Given the description of an element on the screen output the (x, y) to click on. 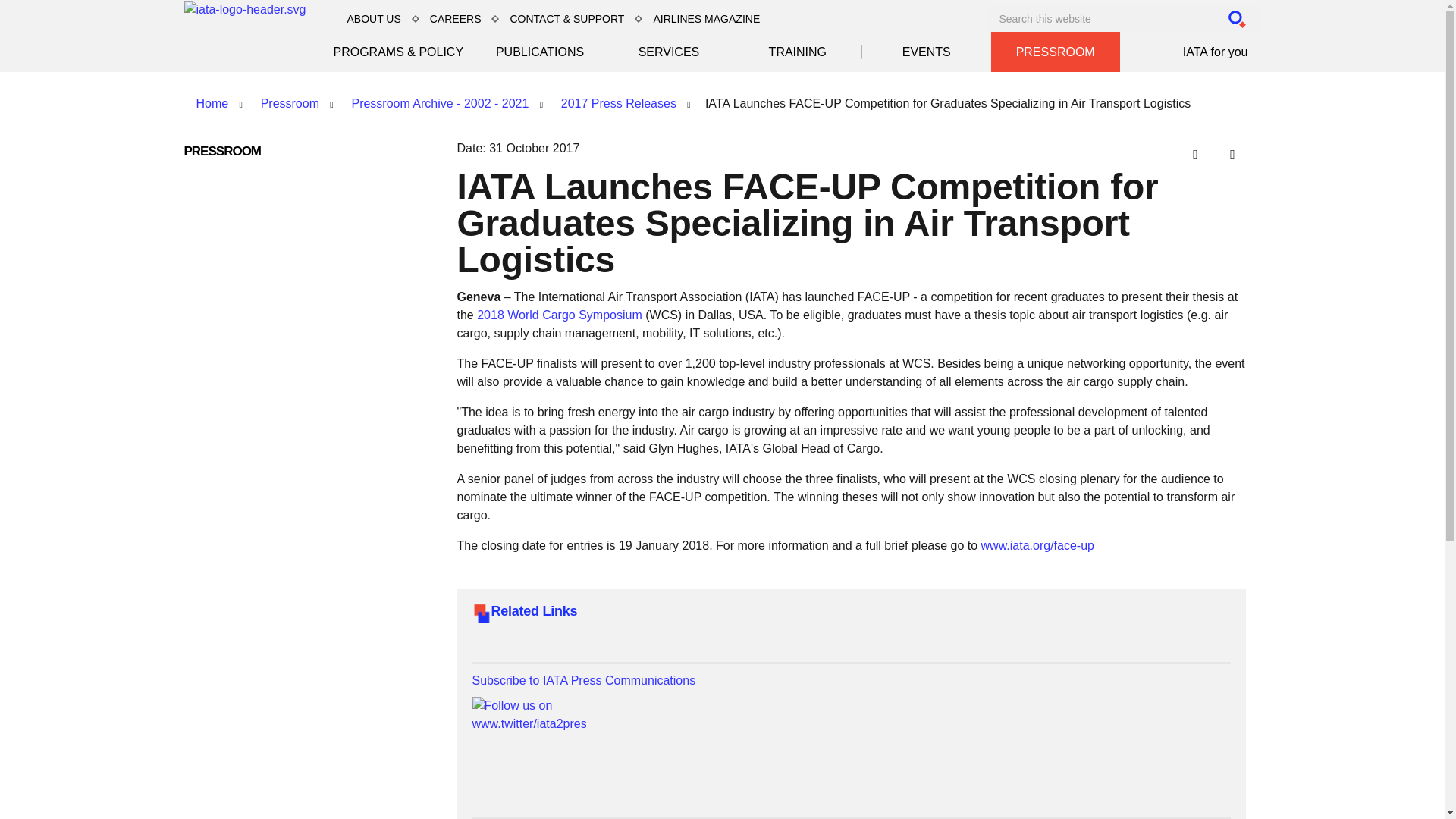
SERVICES (668, 51)
ABOUT US (373, 18)
AIRLINES MAGAZINE (706, 18)
CAREERS (455, 18)
PUBLICATIONS (540, 51)
